Given the description of an element on the screen output the (x, y) to click on. 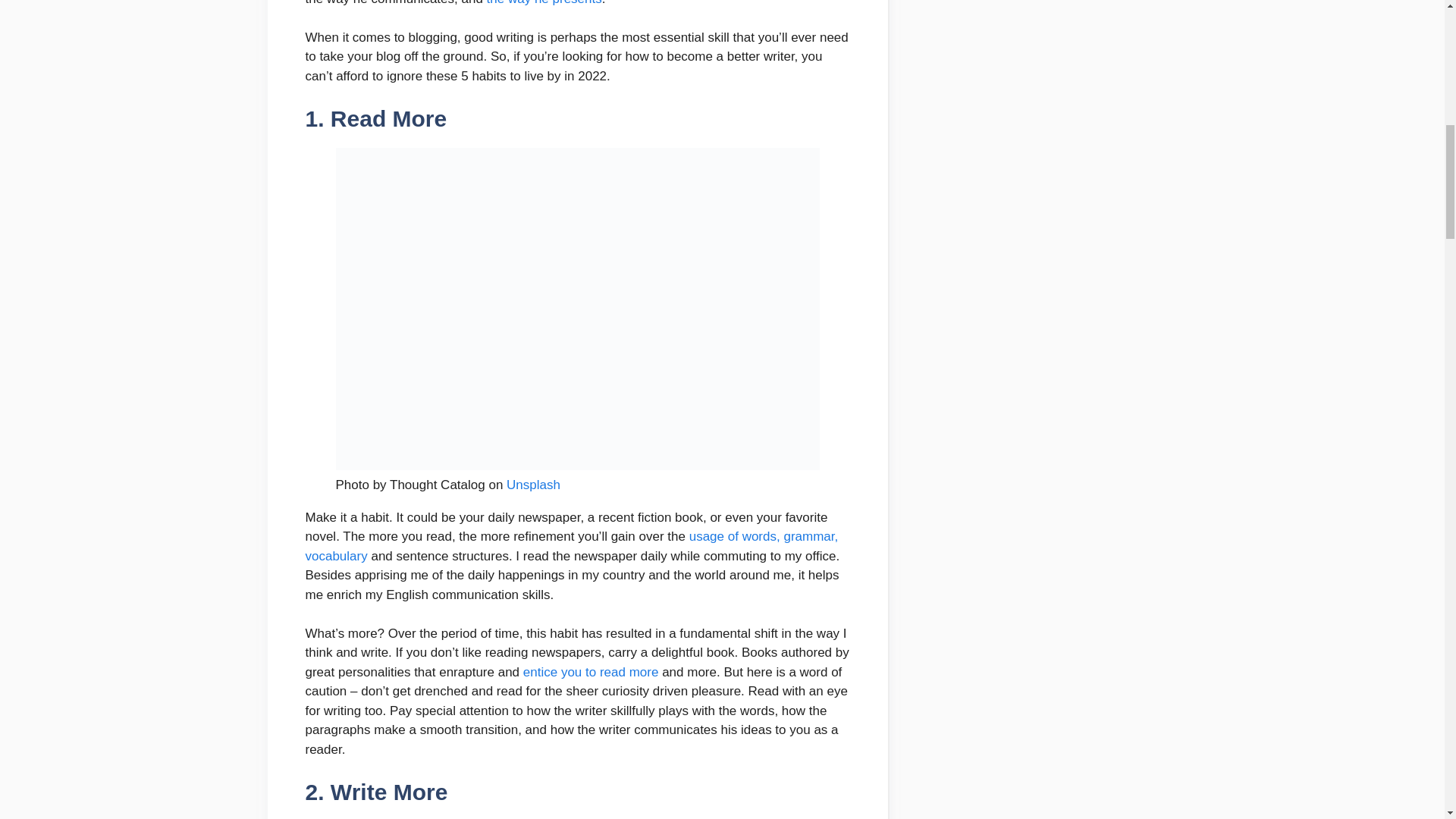
entice you to read more (590, 672)
Unsplash (533, 484)
the way he presents (544, 2)
usage of words, grammar, vocabulary (571, 546)
